Given the description of an element on the screen output the (x, y) to click on. 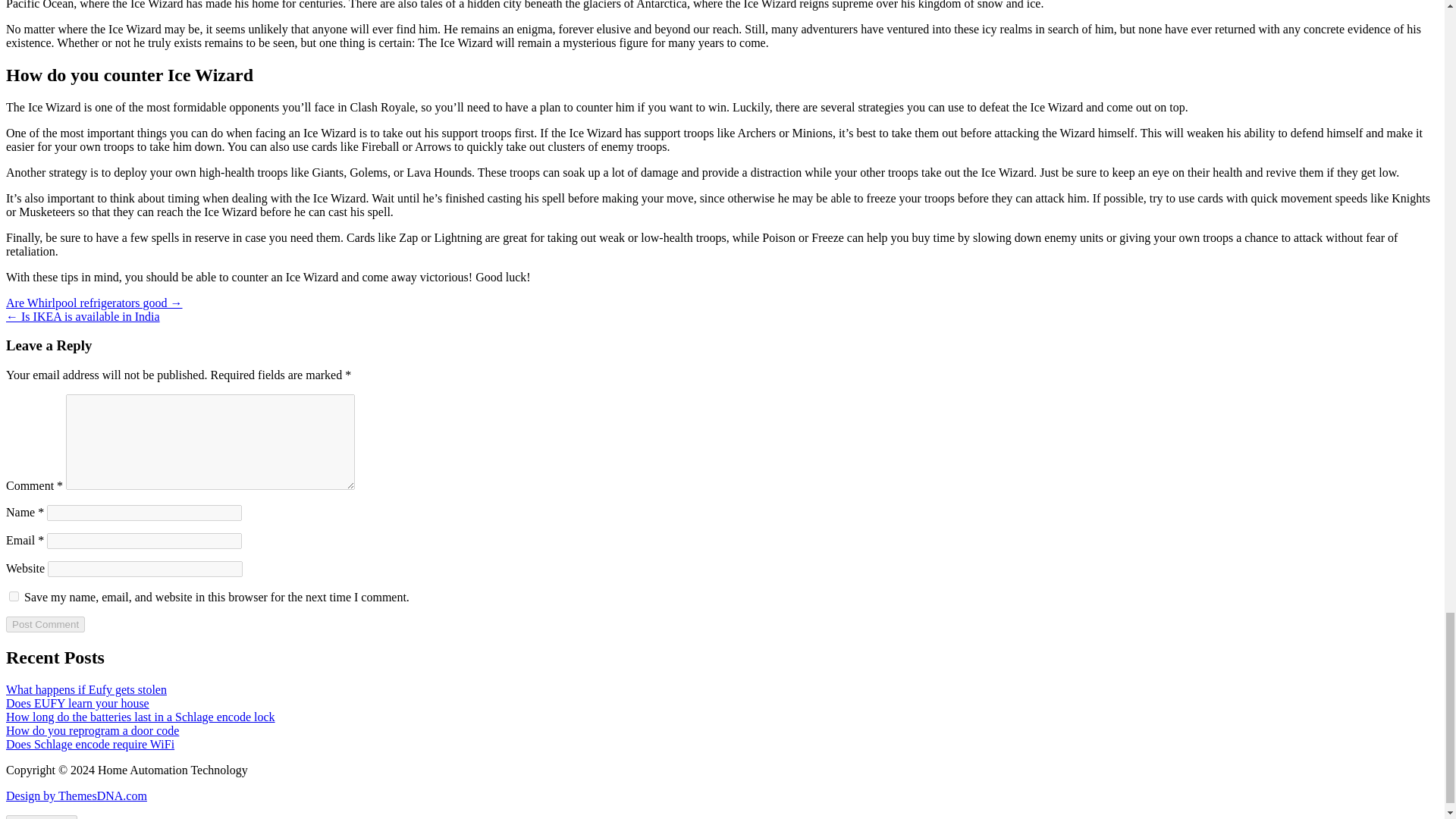
What happens if Eufy gets stolen (86, 689)
How long do the batteries last in a Schlage encode lock (140, 716)
Design by ThemesDNA.com (76, 795)
Does EUFY learn your house (77, 703)
yes (13, 596)
Post Comment (44, 624)
Post Comment (44, 624)
Does Schlage encode require WiFi (89, 744)
How do you reprogram a door code (92, 730)
